Given the description of an element on the screen output the (x, y) to click on. 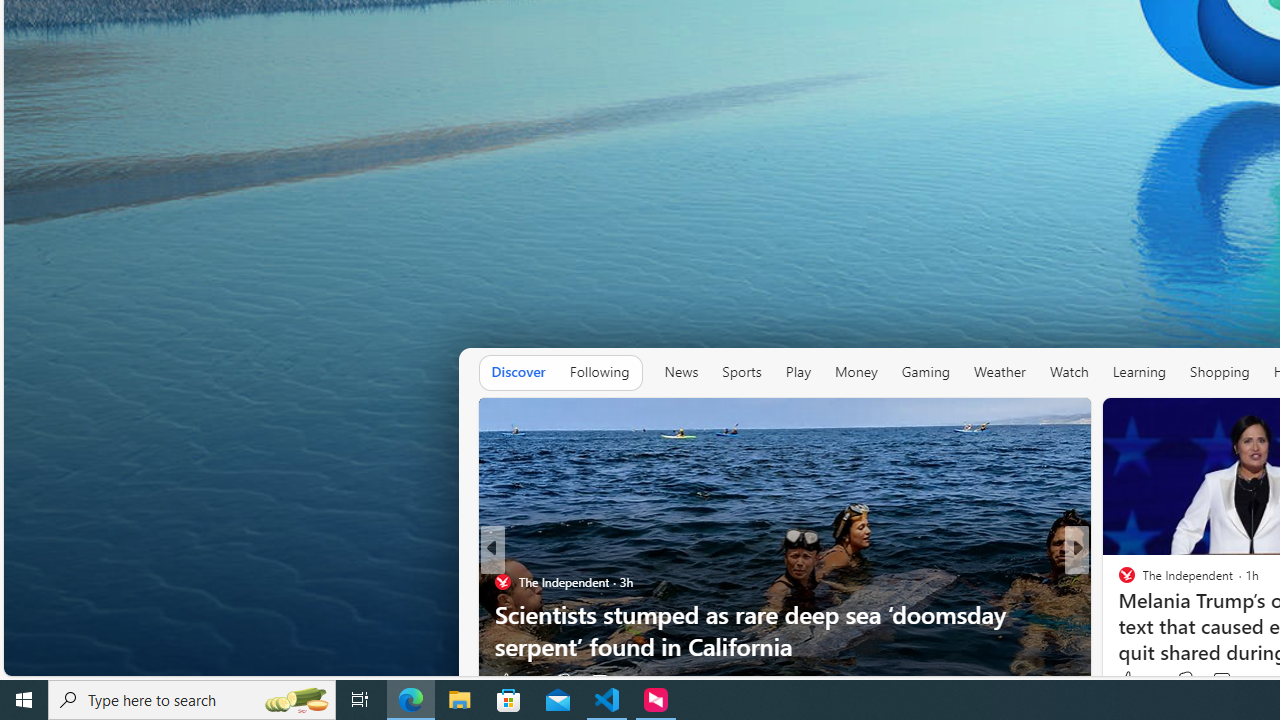
View comments 54 Comment (1215, 681)
View comments 58 Comment (1223, 681)
View comments 11 Comment (1223, 681)
175 Like (1132, 681)
Learning (1138, 372)
Bustle (1117, 581)
Comparables.ai (1150, 614)
View comments 27 Comment (608, 681)
View comments 31 Comment (1215, 681)
